Given the description of an element on the screen output the (x, y) to click on. 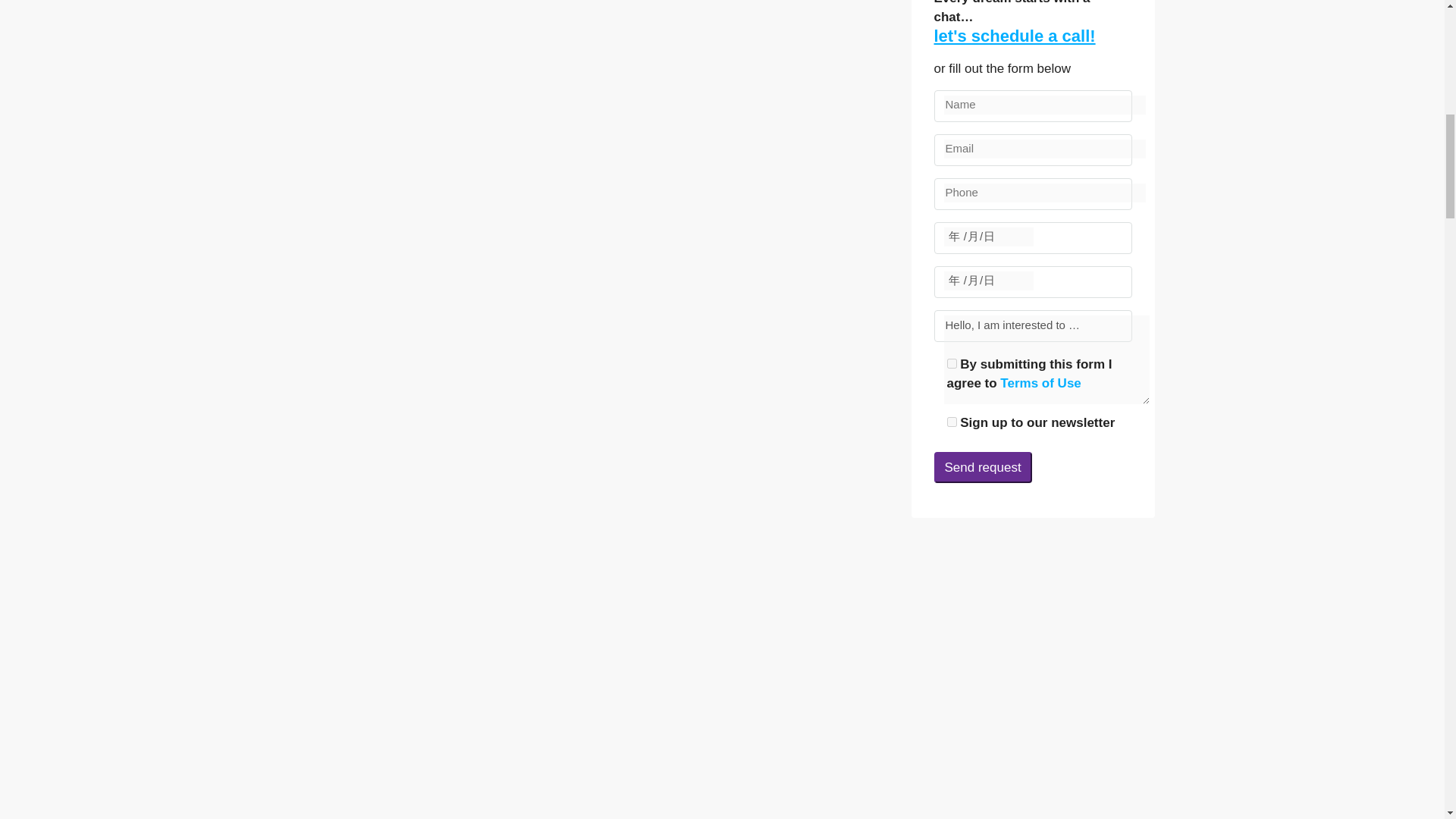
1 (951, 421)
1 (951, 363)
Send request (983, 467)
